Given the description of an element on the screen output the (x, y) to click on. 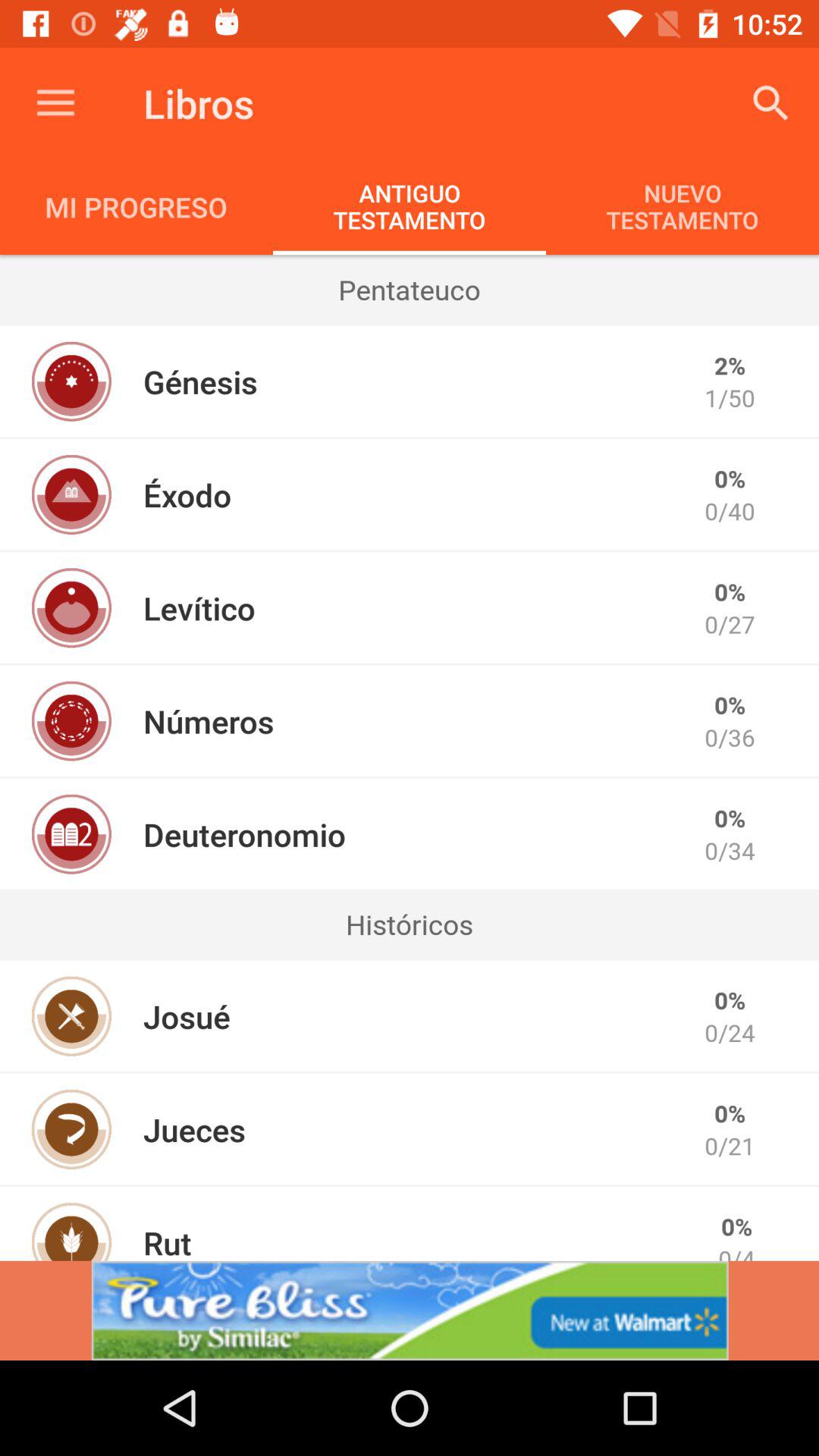
select the item to the left of 0/24 item (186, 1015)
